Given the description of an element on the screen output the (x, y) to click on. 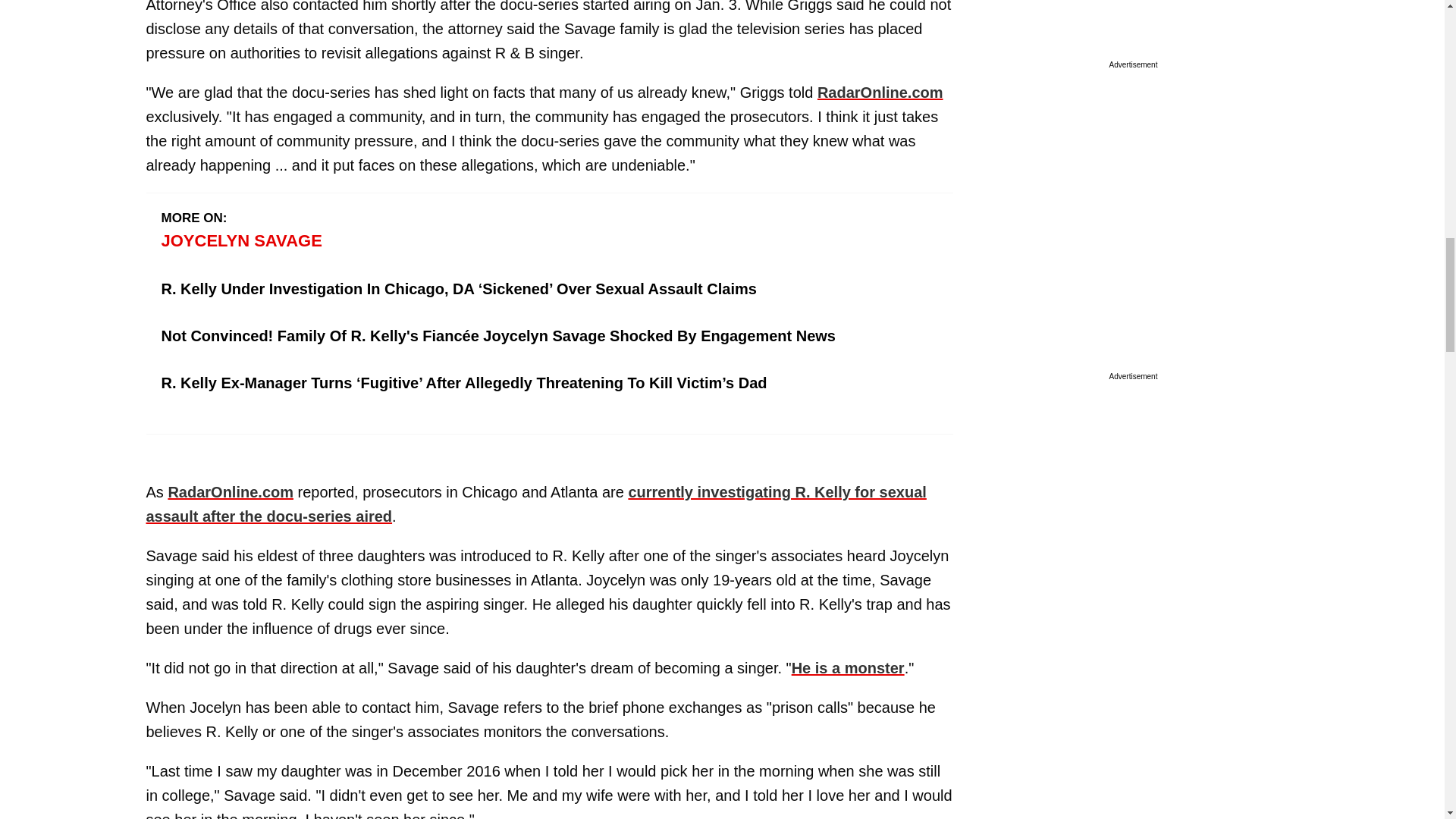
He is a monster (848, 668)
RadarOnline.com (230, 492)
RadarOnline.com (879, 92)
